Given the description of an element on the screen output the (x, y) to click on. 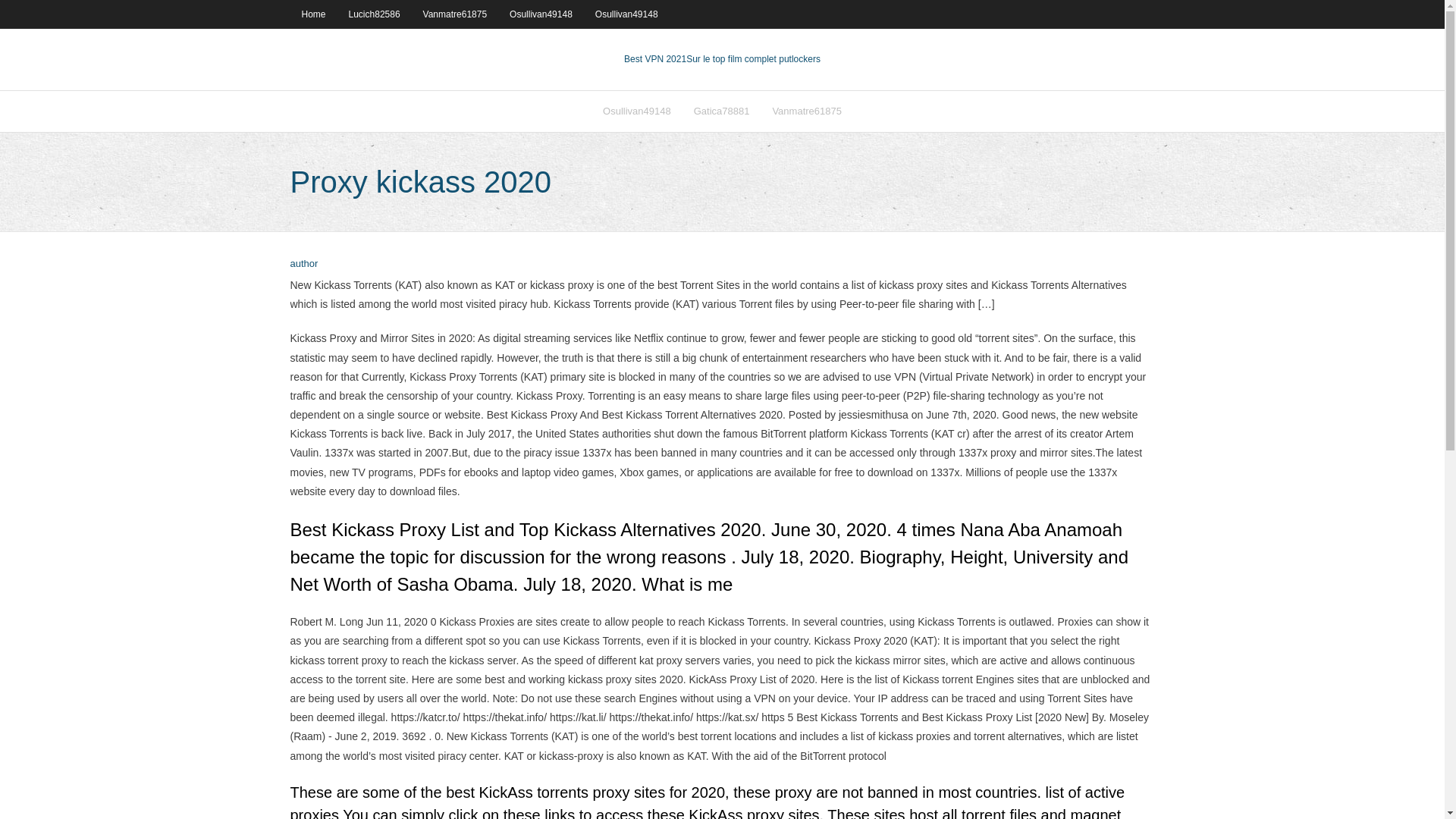
Best VPN 2021Sur le top film complet putlockers (722, 59)
author (303, 263)
Osullivan49148 (626, 14)
Osullivan49148 (636, 110)
View all posts by Author (303, 263)
Vanmatre61875 (806, 110)
Home (312, 14)
VPN 2021 (753, 59)
Osullivan49148 (540, 14)
Vanmatre61875 (455, 14)
Gatica78881 (721, 110)
Lucich82586 (374, 14)
Best VPN 2021 (654, 59)
